Given the description of an element on the screen output the (x, y) to click on. 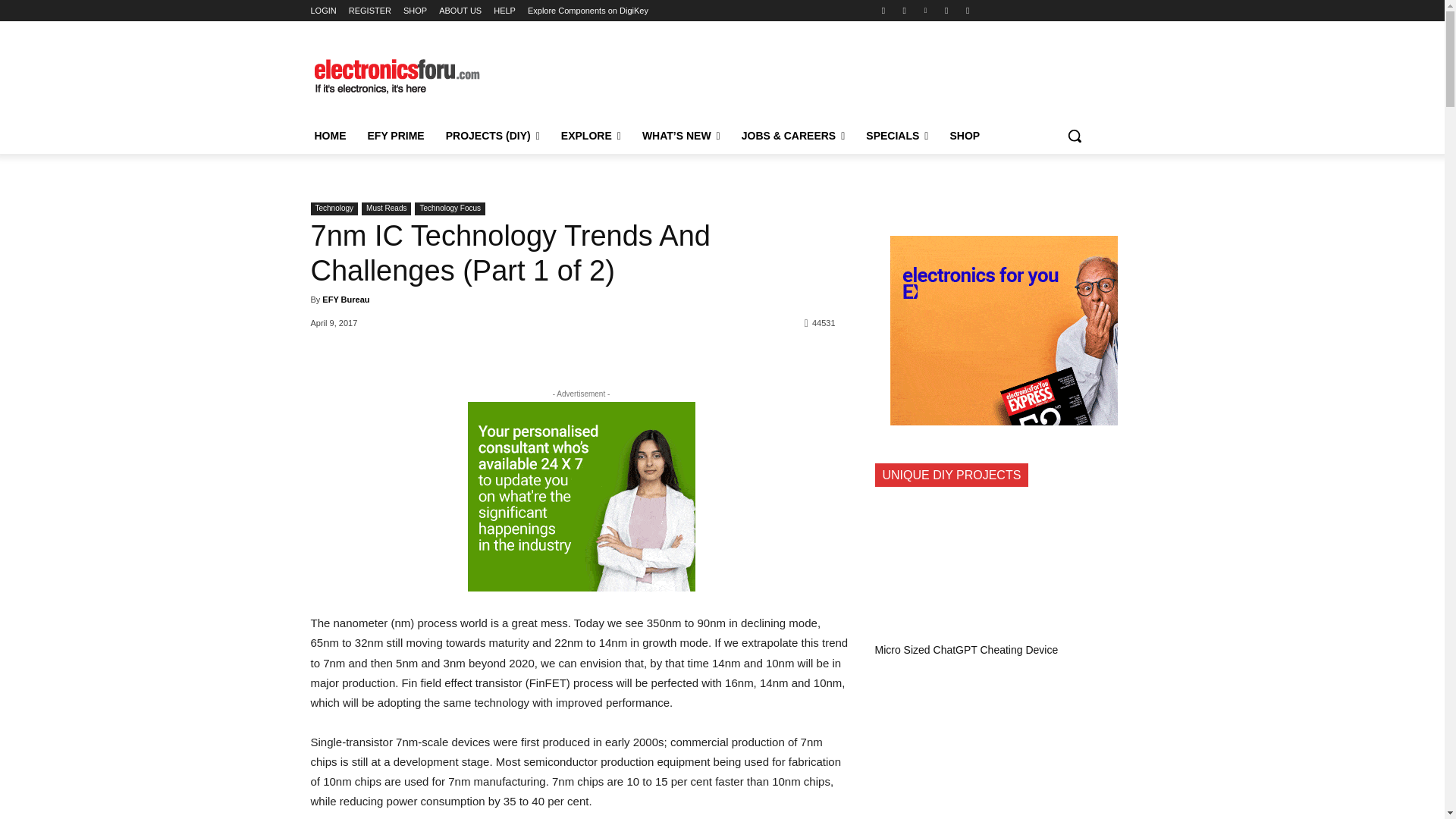
Instagram (903, 9)
Youtube (967, 9)
Facebook (883, 9)
Twitter (946, 9)
Linkedin (925, 9)
